Given the description of an element on the screen output the (x, y) to click on. 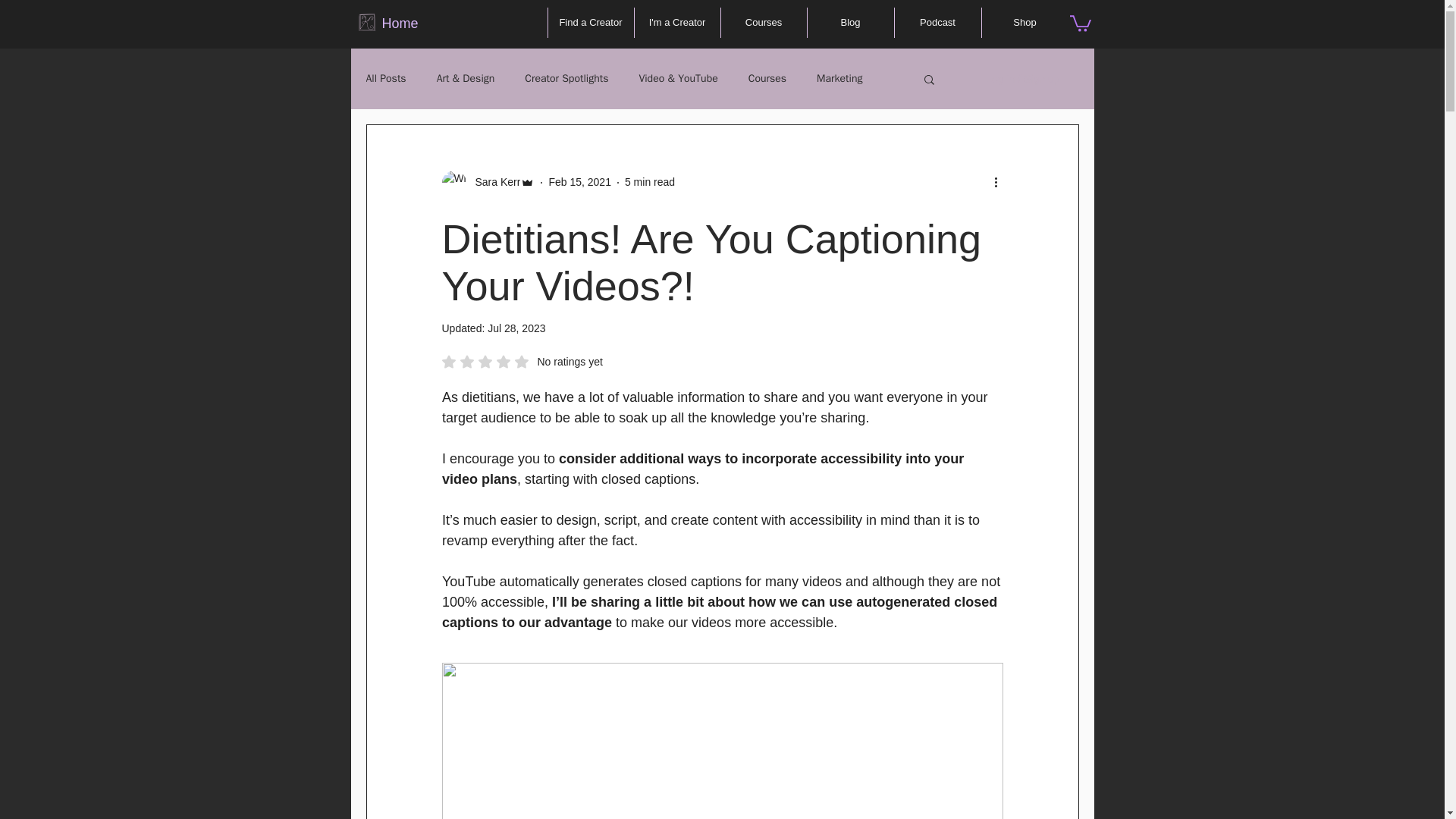
I'm a Creator (676, 22)
Podcast (938, 22)
Courses (763, 22)
All Posts (385, 78)
Blog (849, 22)
Shop (1024, 22)
Home (400, 23)
Sara Kerr (487, 181)
Courses (767, 78)
5 min read (649, 182)
